Given the description of an element on the screen output the (x, y) to click on. 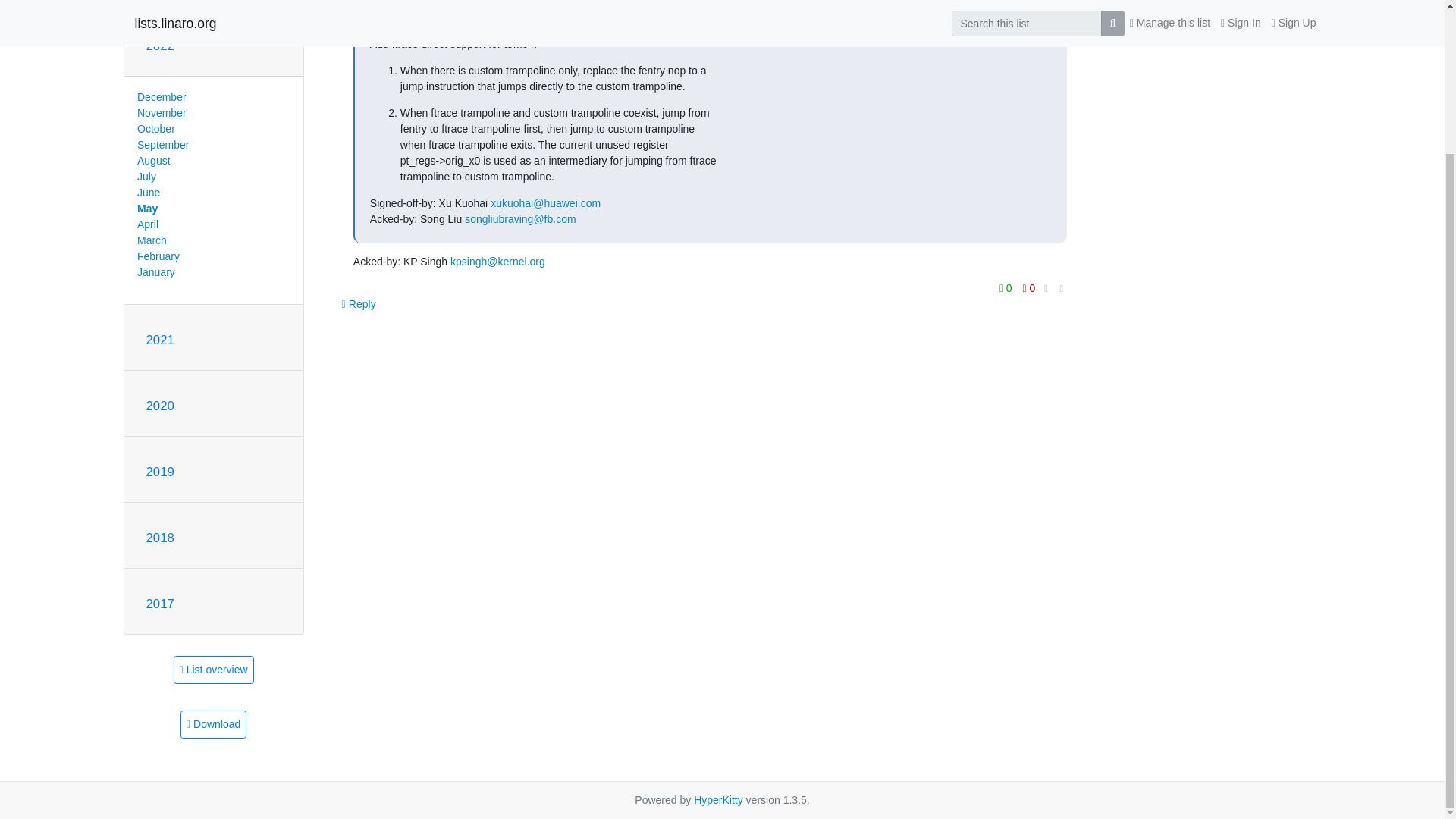
This message in gzipped mbox format (213, 724)
You must be logged-in to vote. (1007, 288)
September (162, 144)
October (155, 128)
June (148, 192)
December (161, 96)
November (161, 112)
July (145, 176)
You must be logged-in to vote. (1029, 288)
2022 (159, 45)
August (153, 160)
Sign in to reply online (359, 303)
